Given the description of an element on the screen output the (x, y) to click on. 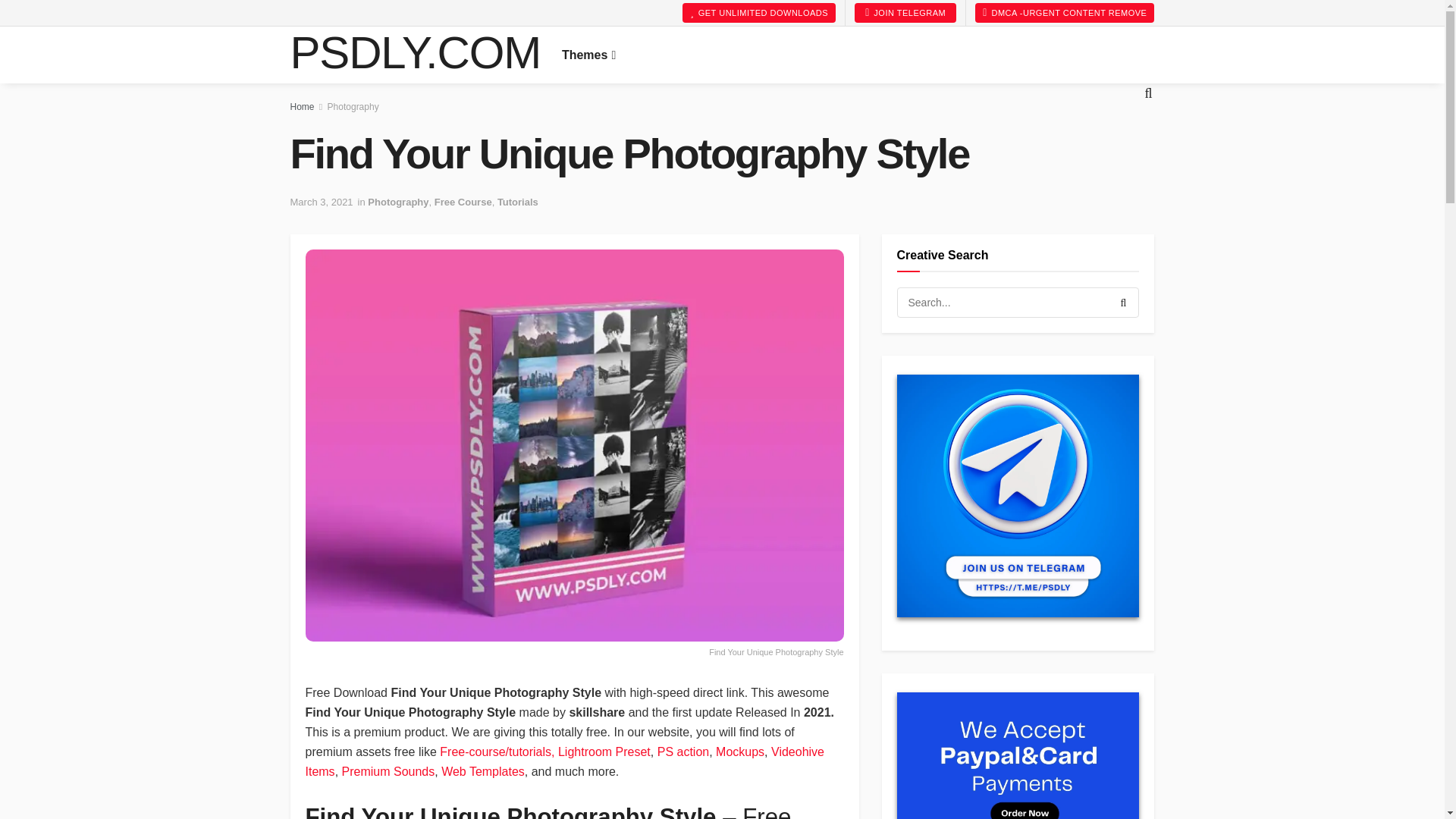
DMCA -URGENT CONTENT REMOVE (1064, 12)
Photoshop (596, 18)
JOIN TELEGRAM (905, 12)
GET UNLIMITED DOWNLOADS (758, 12)
Videohive (678, 18)
Fonts (745, 18)
PSDLY.COM (414, 54)
